Given the description of an element on the screen output the (x, y) to click on. 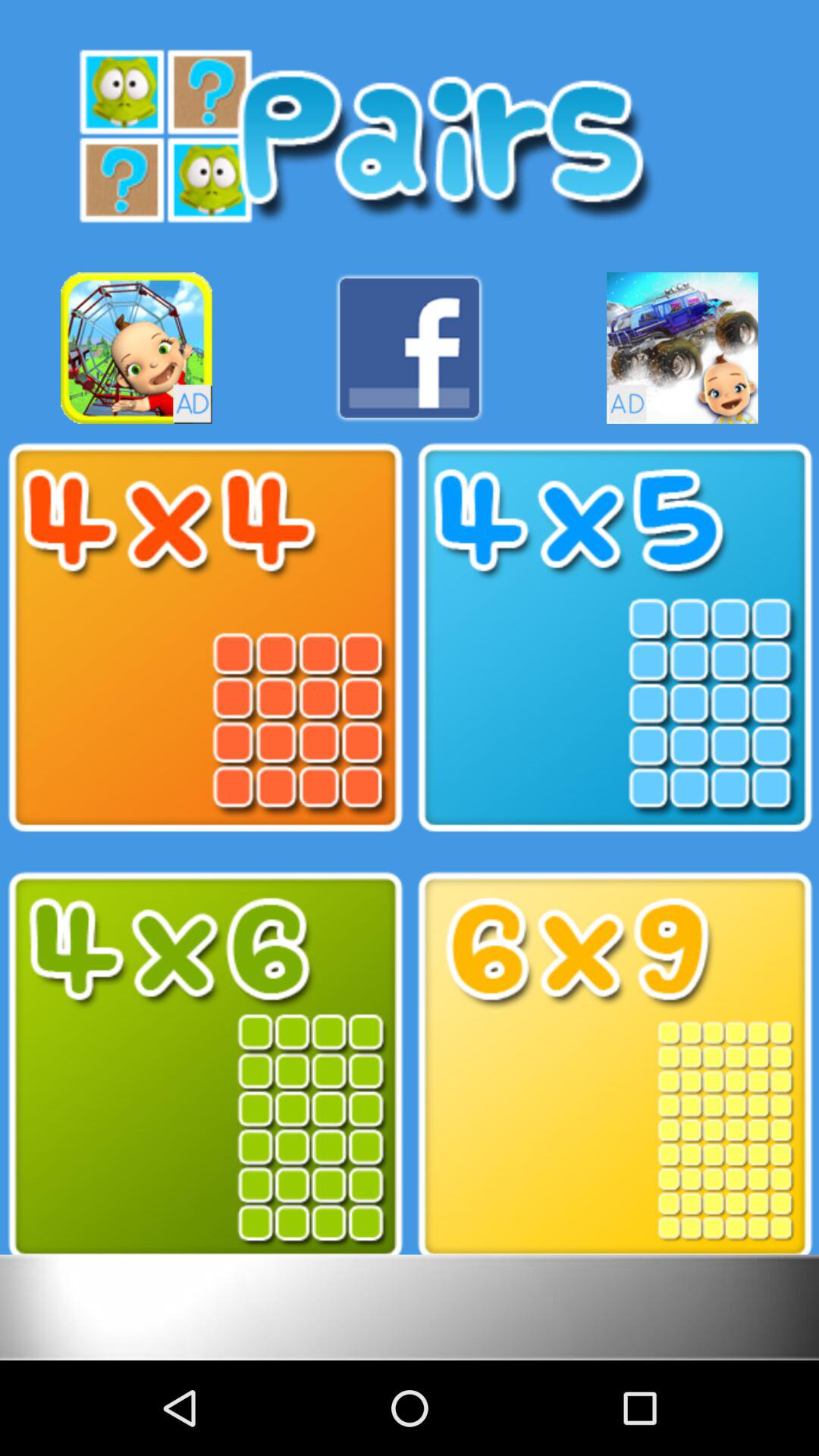
open 4x4 puzzle (204, 637)
